Given the description of an element on the screen output the (x, y) to click on. 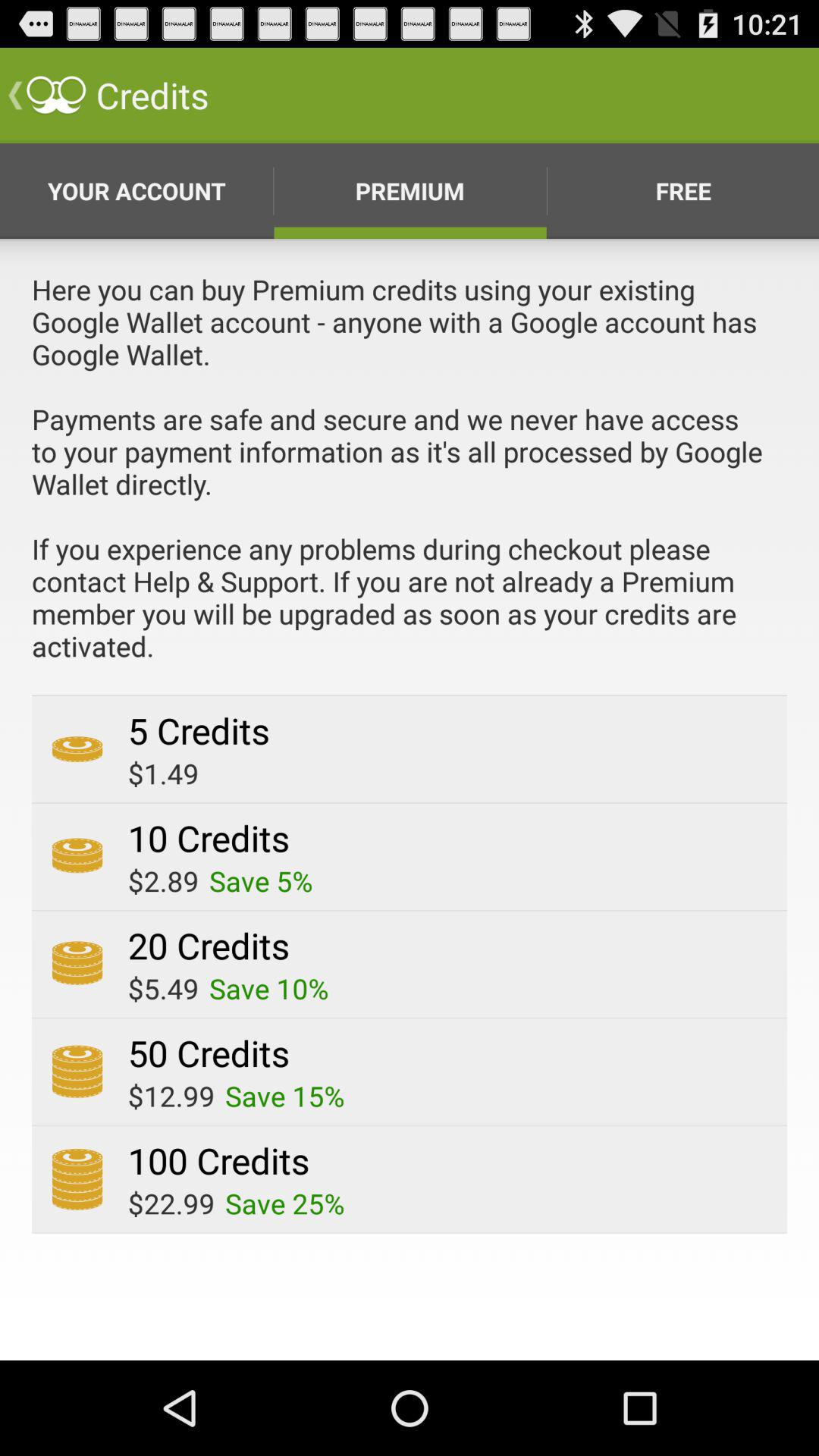
turn off app below the 100 credits (284, 1203)
